Given the description of an element on the screen output the (x, y) to click on. 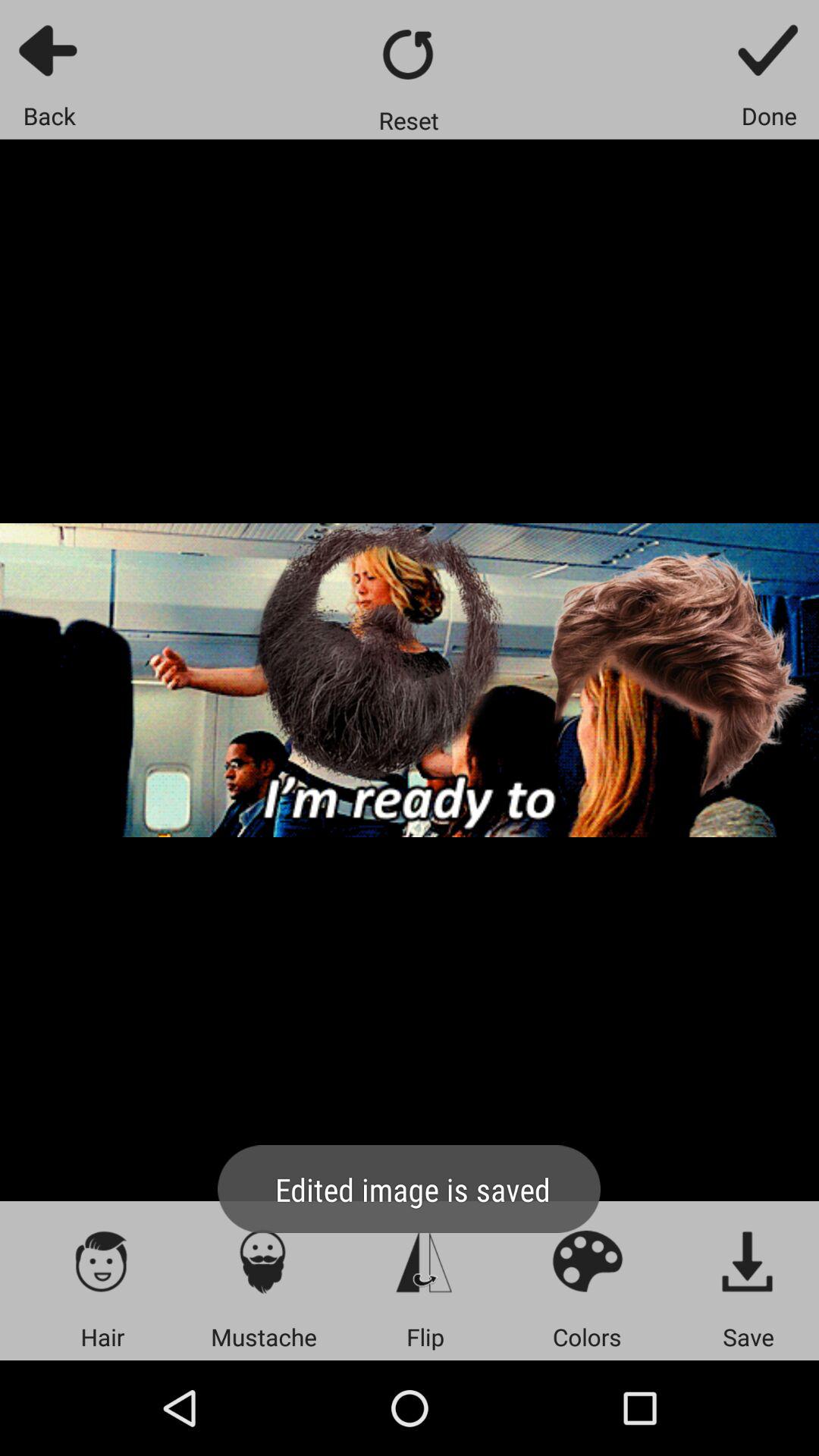
hair (102, 1260)
